Given the description of an element on the screen output the (x, y) to click on. 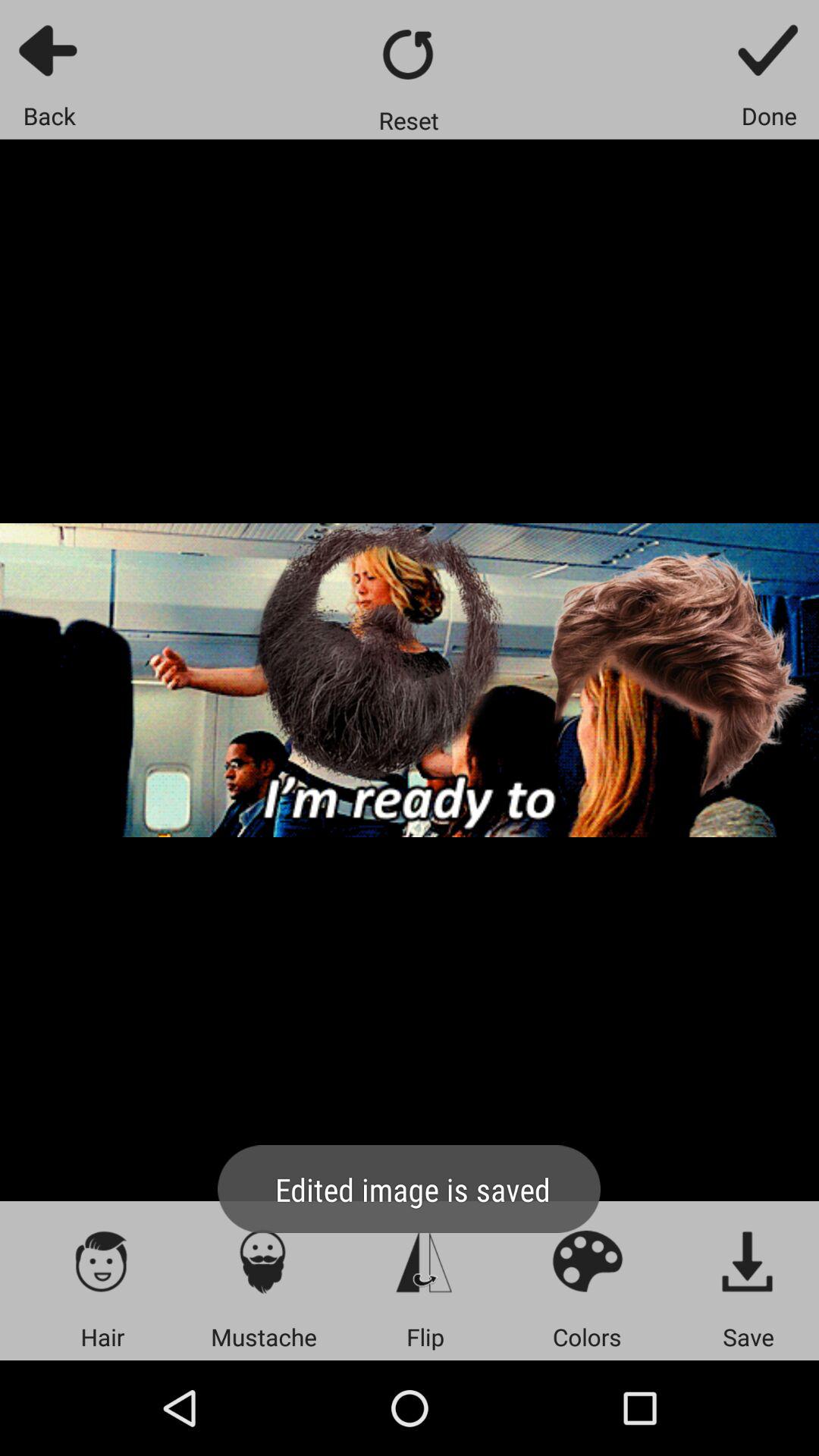
hair (102, 1260)
